Given the description of an element on the screen output the (x, y) to click on. 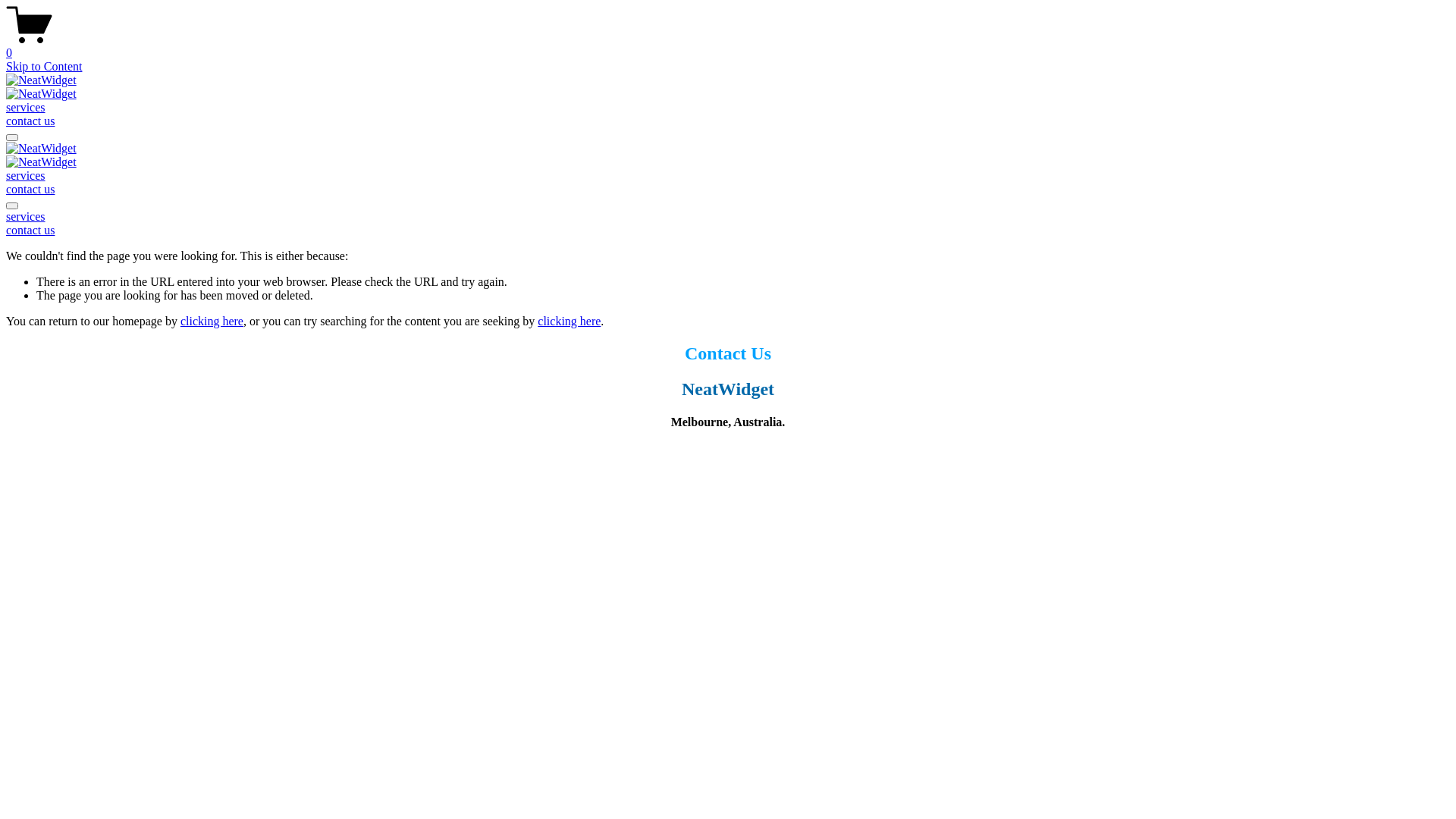
clicking here Element type: text (211, 320)
services Element type: text (25, 216)
contact us Element type: text (30, 188)
services Element type: text (25, 106)
contact us Element type: text (30, 229)
0 Element type: text (727, 45)
clicking here Element type: text (568, 320)
contact us Element type: text (30, 120)
Skip to Content Element type: text (43, 65)
services Element type: text (25, 175)
